Given the description of an element on the screen output the (x, y) to click on. 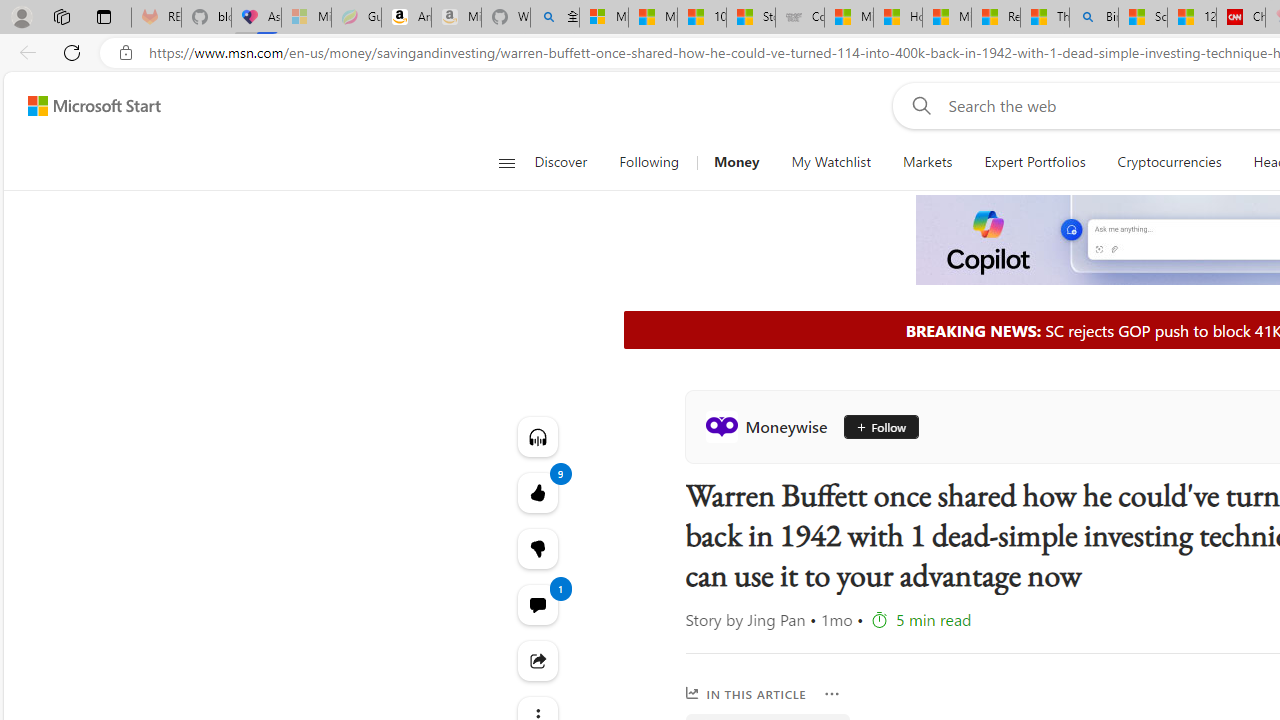
9 Like (537, 492)
Combat Siege (799, 17)
Recipes - MSN (995, 17)
Share this story (537, 660)
12 Popular Science Lies that Must be Corrected (1191, 17)
Expert Portfolios (1034, 162)
Discover (568, 162)
Bing (1093, 17)
Skip to content (86, 105)
